Given the description of an element on the screen output the (x, y) to click on. 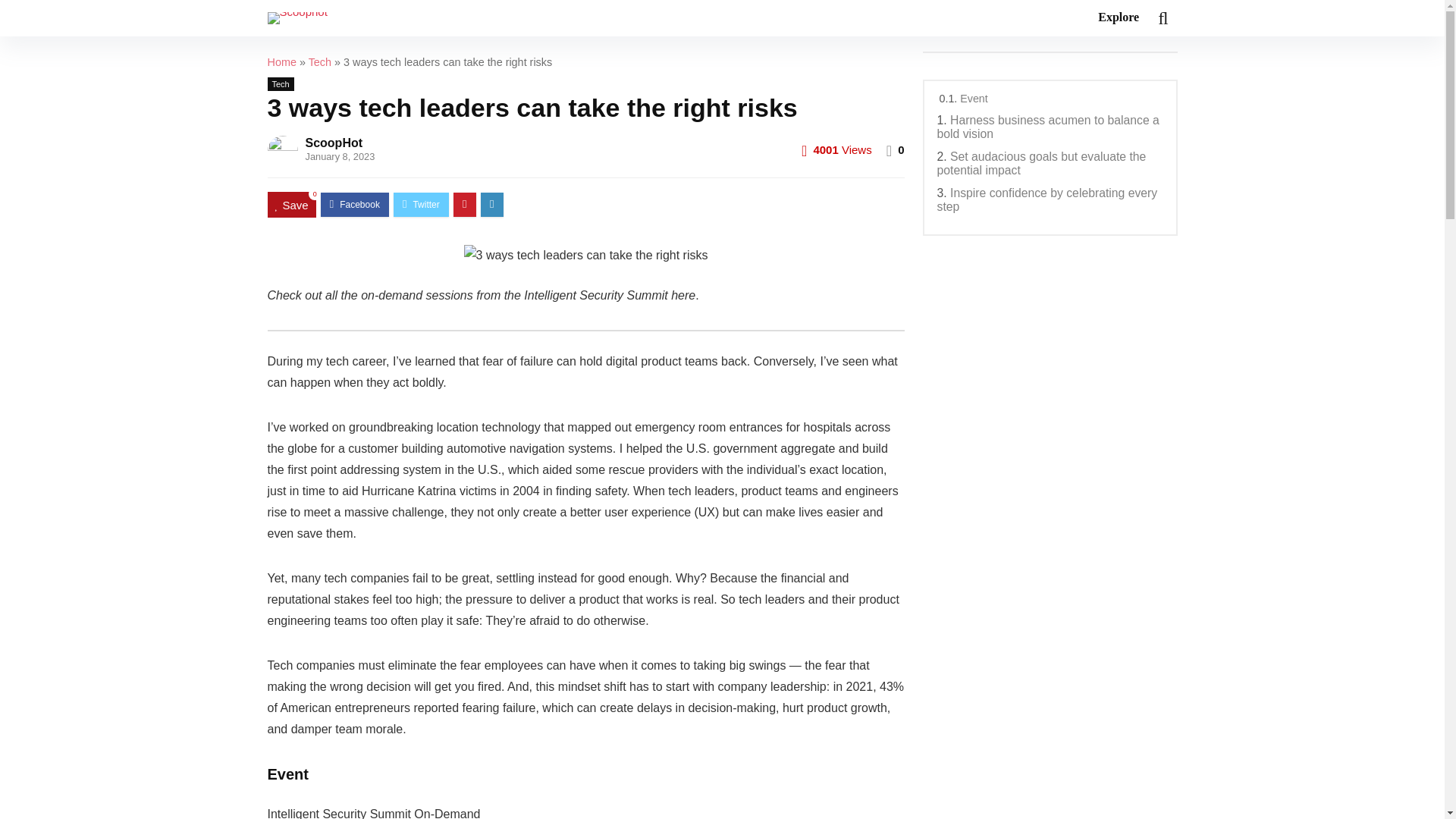
View all posts in Tech (280, 83)
Event (973, 98)
3 ways tech leaders can take the right risks (585, 255)
Tech (319, 61)
Explore (1117, 18)
Harness business acumen to balance a bold vision (1047, 126)
Tech (280, 83)
Home (280, 61)
ScoopHot (333, 142)
